Given the description of an element on the screen output the (x, y) to click on. 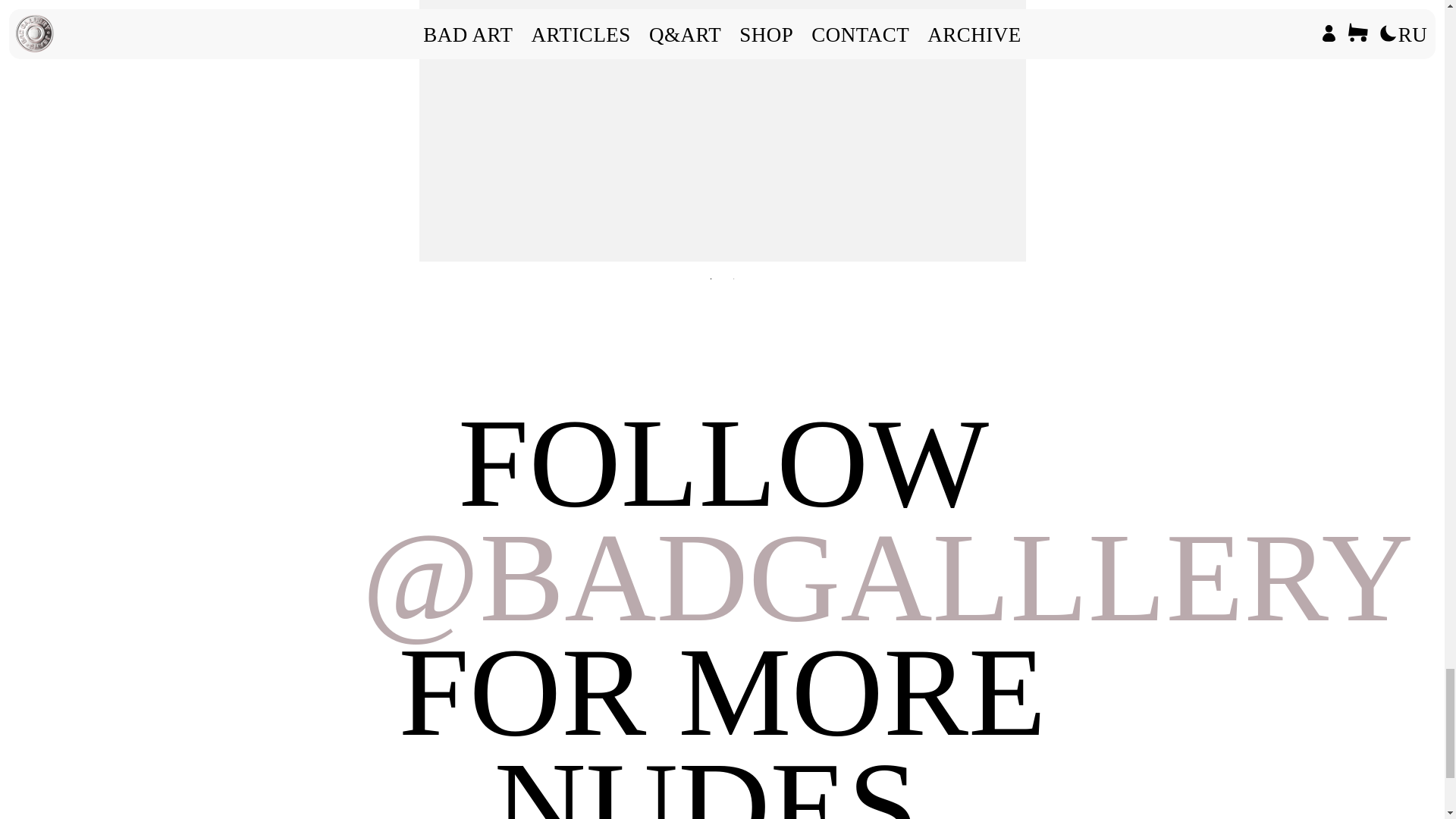
2 (733, 278)
1 (711, 278)
